Given the description of an element on the screen output the (x, y) to click on. 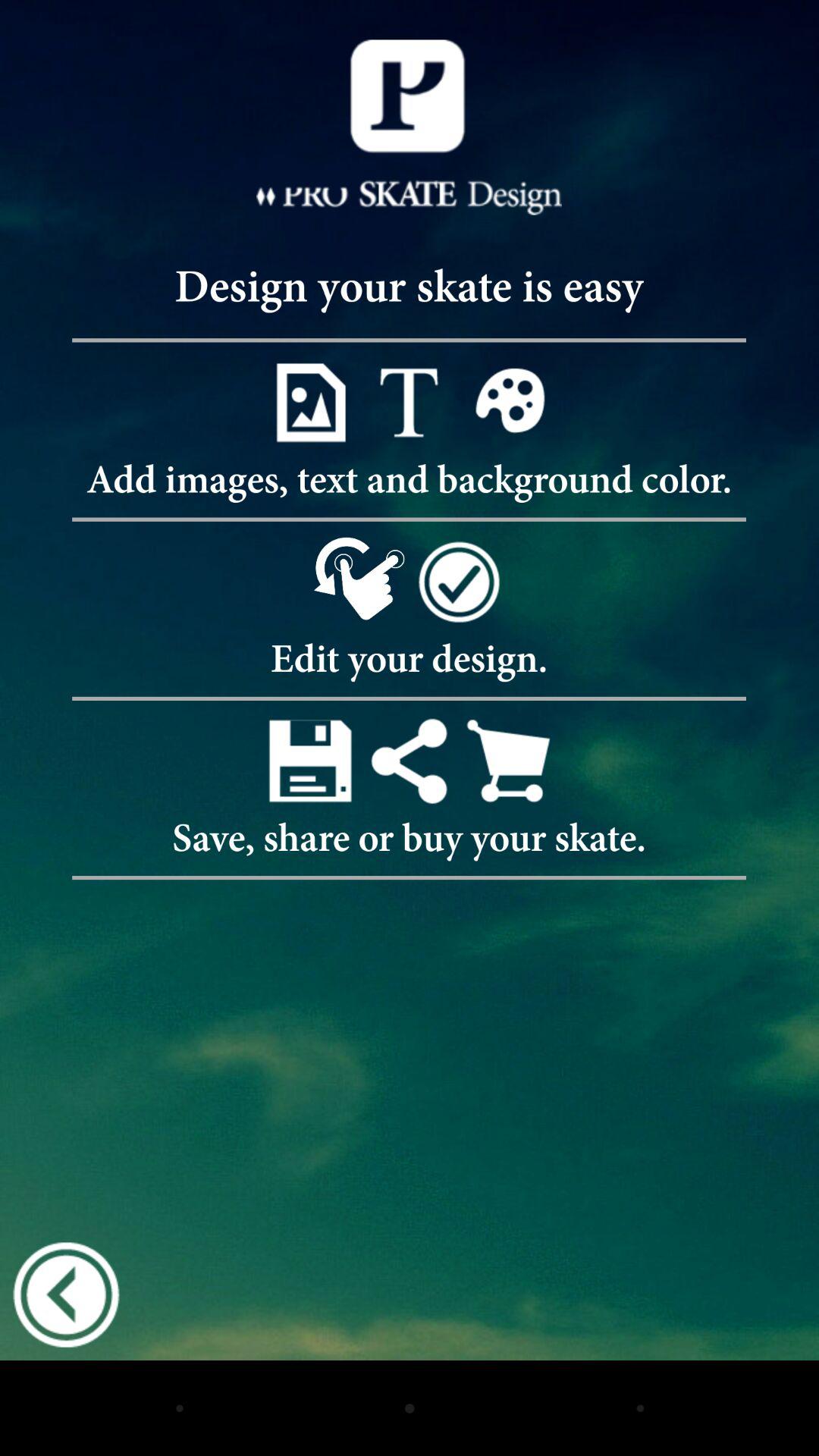
add text (408, 402)
